Given the description of an element on the screen output the (x, y) to click on. 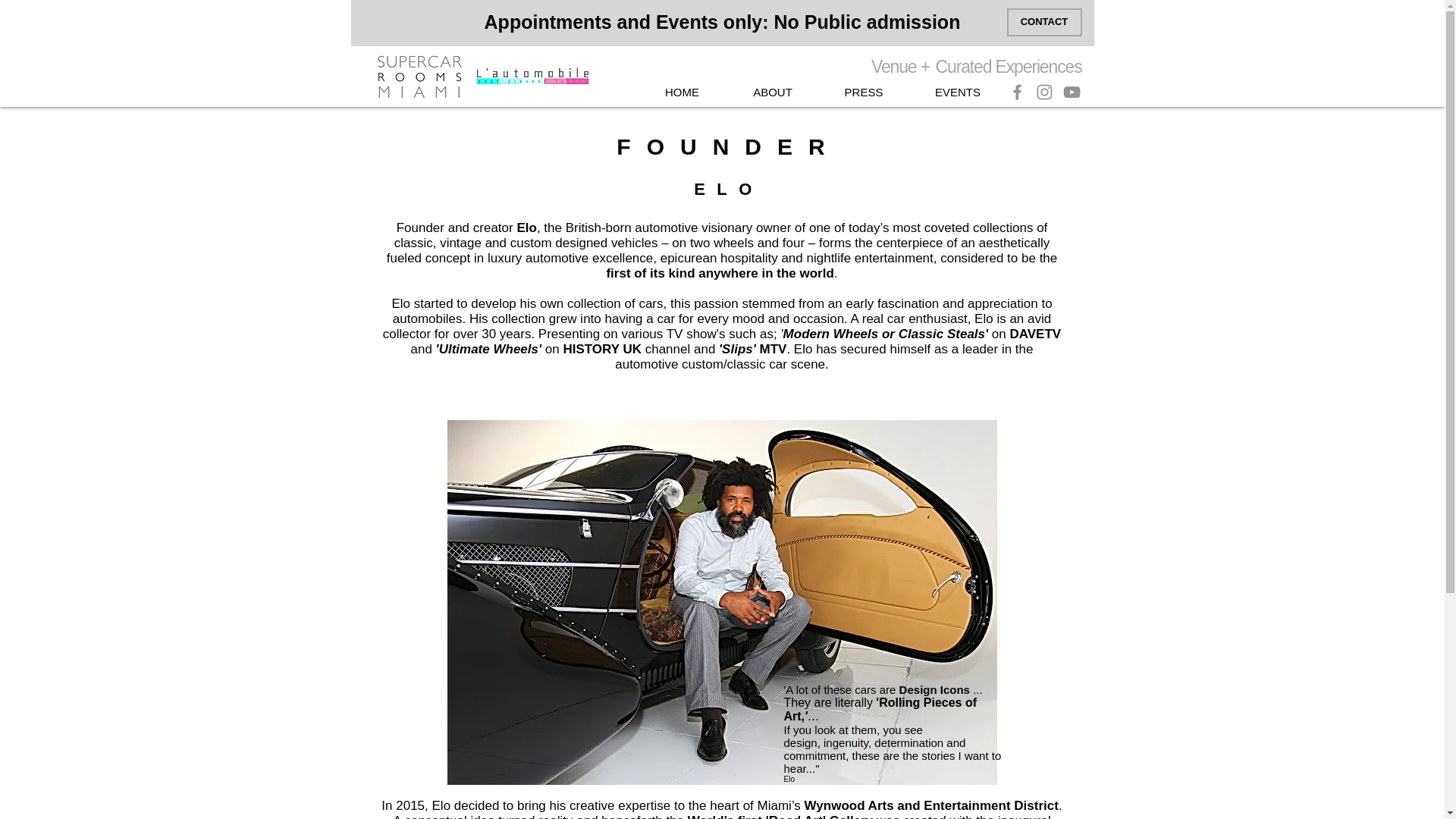
CONTACT (1044, 22)
EVENTS (957, 91)
PRESS (863, 91)
ABOUT (772, 91)
HOME (681, 91)
